Given the description of an element on the screen output the (x, y) to click on. 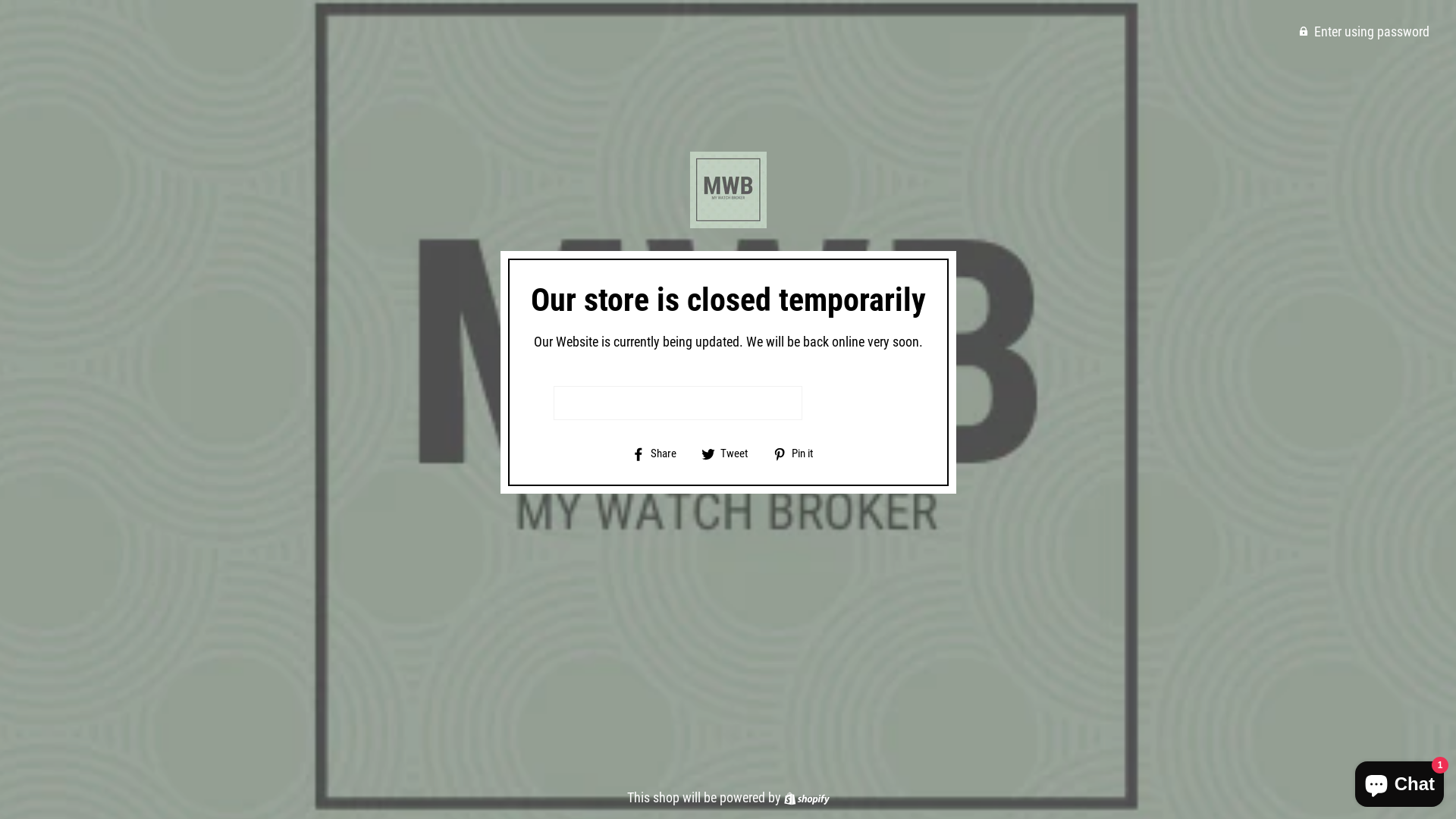
Share
Share on Facebook Element type: text (659, 452)
Pin it
Pin on Pinterest Element type: text (798, 452)
Enter using password Element type: text (1363, 31)
Shopify online store chat Element type: hover (1399, 780)
SUBMIT Element type: text (845, 402)
Tweet
Tweet on Twitter Element type: text (730, 452)
Shopify Element type: text (806, 797)
